Given the description of an element on the screen output the (x, y) to click on. 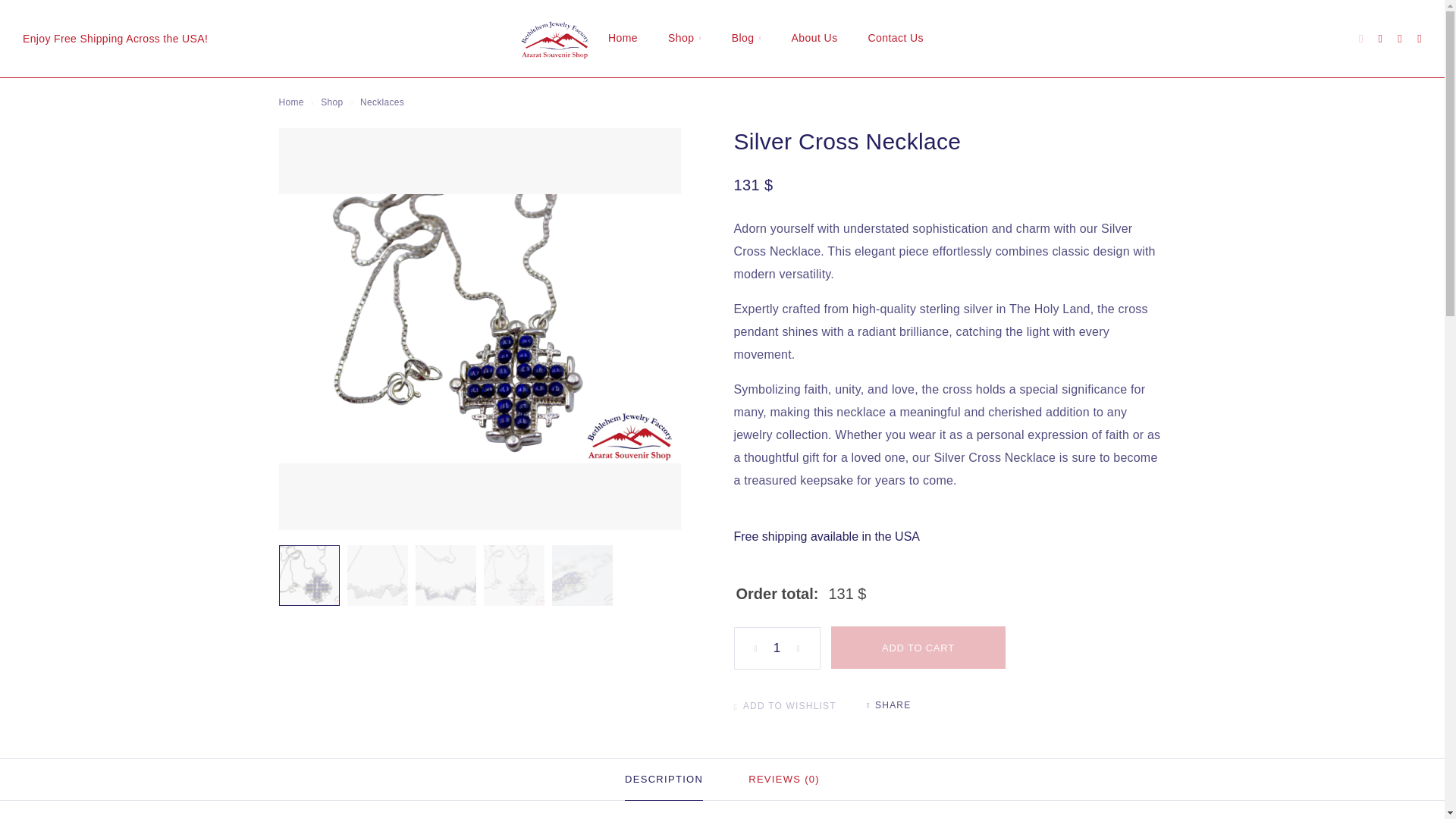
1 (776, 648)
Login (1380, 38)
Qty (776, 648)
